Given the description of an element on the screen output the (x, y) to click on. 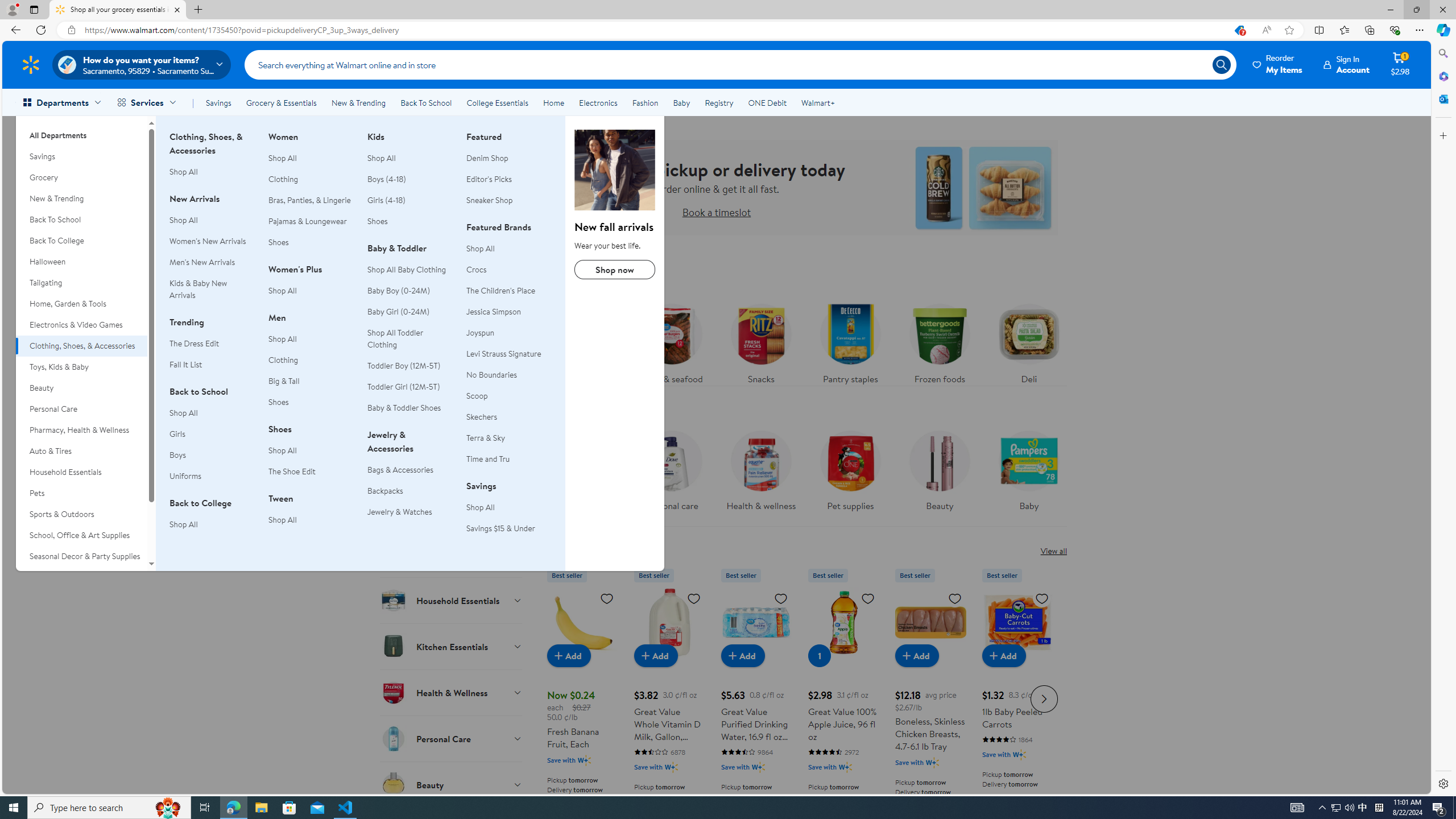
The Shoe Edit (291, 471)
Baby & Toddler Shoes (409, 408)
Bags & Accessories (409, 469)
Grab & Go (451, 554)
Frozen (451, 415)
Beverages (451, 461)
Baby Boy (0-24M) (409, 290)
ONE Debit (767, 102)
Denim Shop (508, 158)
